Given the description of an element on the screen output the (x, y) to click on. 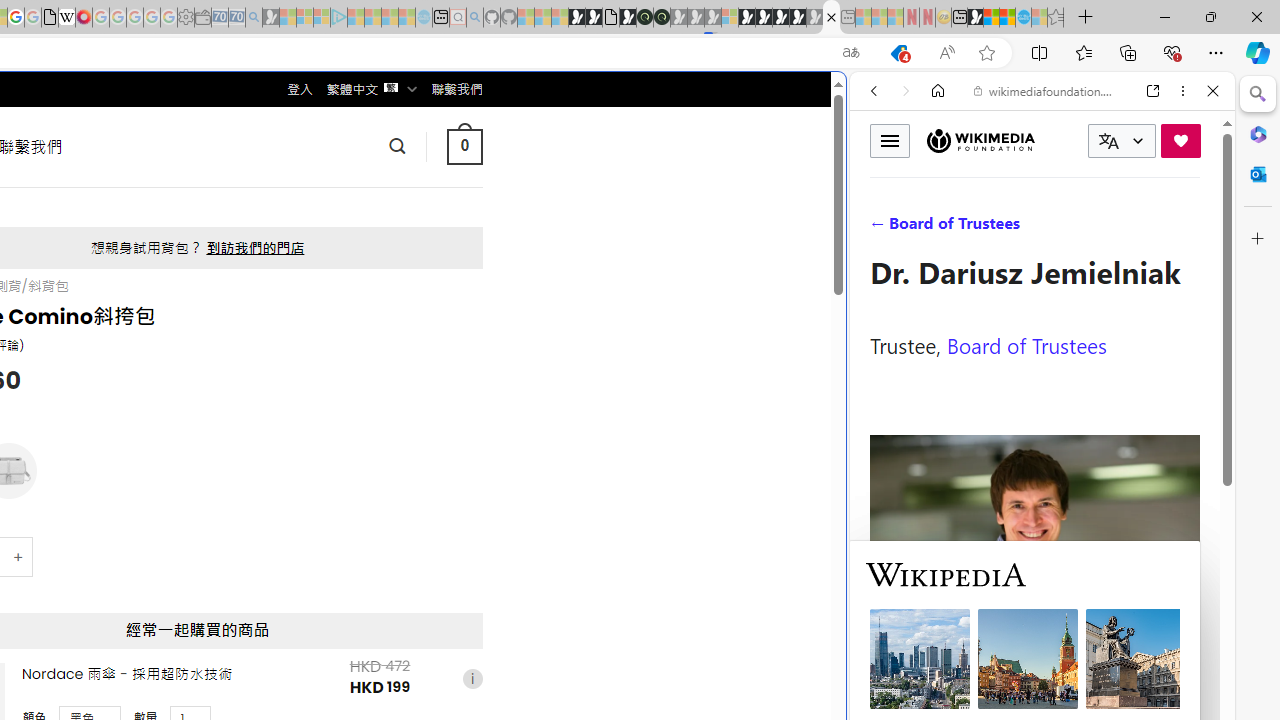
+ (19, 557)
Close split screen (844, 102)
Class: i icon icon-translate language-switcher__icon (1108, 141)
github - Search - Sleeping (474, 17)
